Given the description of an element on the screen output the (x, y) to click on. 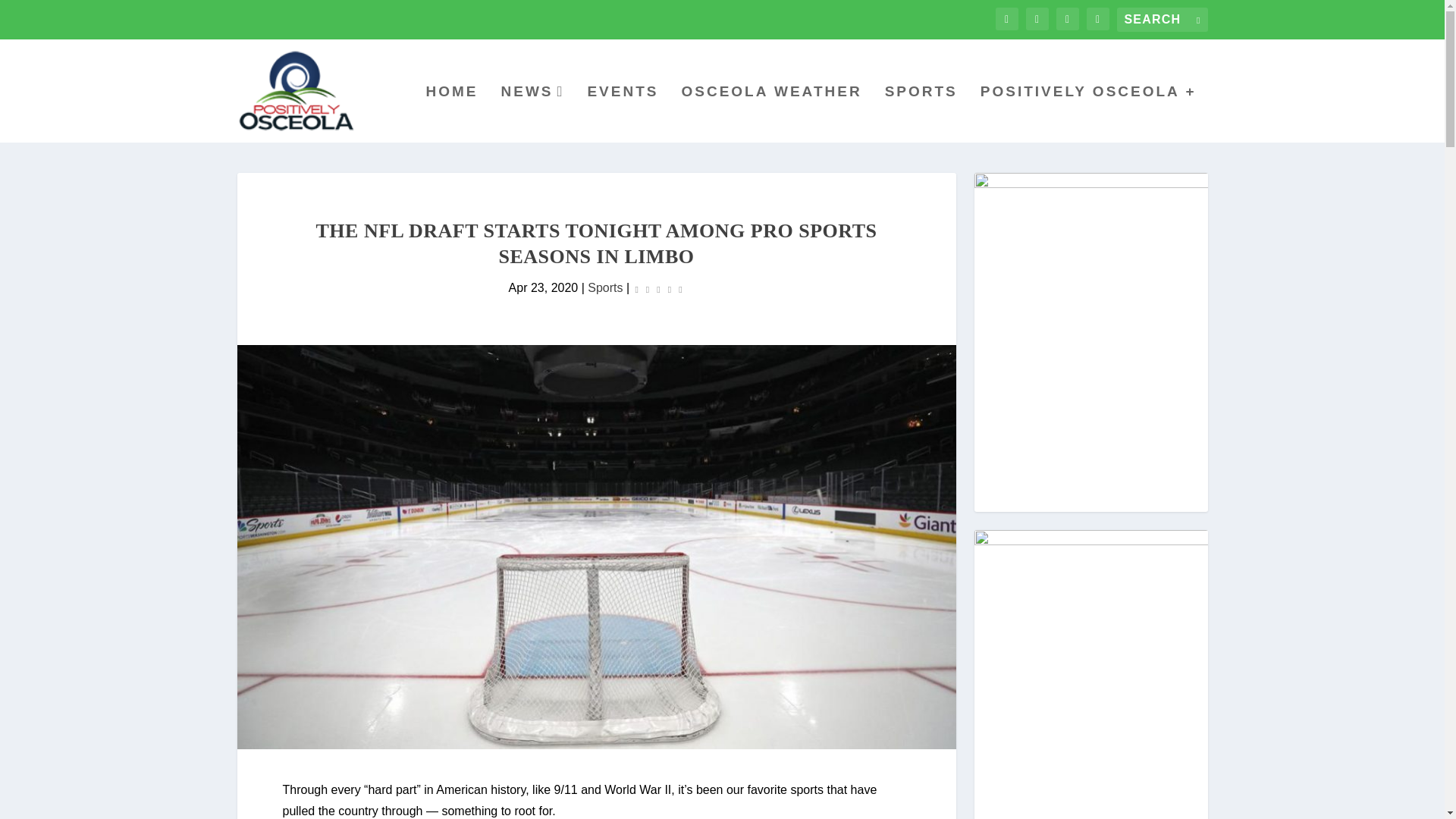
NEWS (532, 113)
Search for: (1161, 19)
Rating: 0.00 (658, 288)
Sports (605, 287)
EVENTS (622, 113)
HOME (451, 113)
OSCEOLA WEATHER (771, 113)
SPORTS (921, 113)
